Given the description of an element on the screen output the (x, y) to click on. 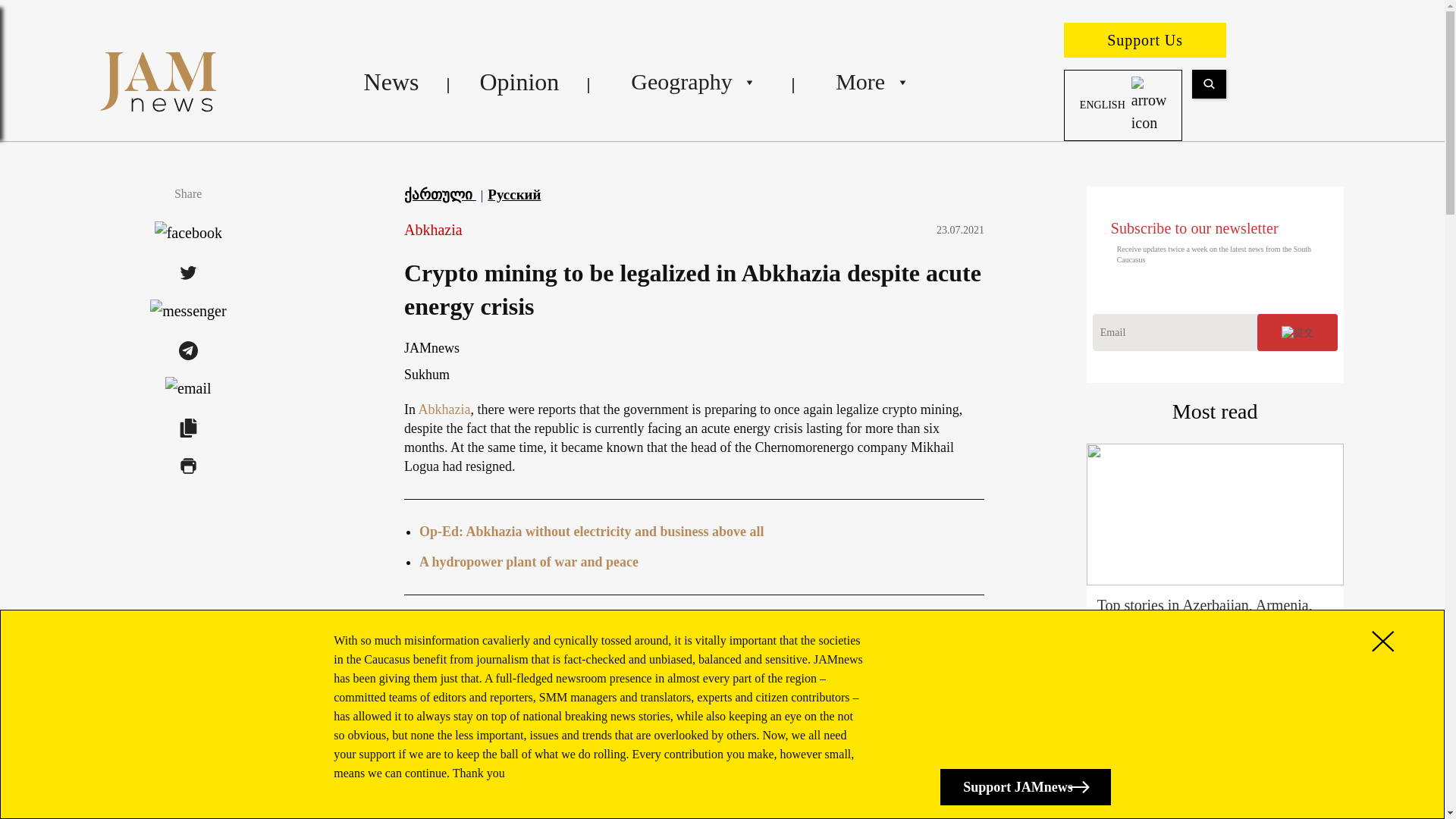
More (869, 81)
Geography (691, 81)
Opinion (518, 81)
News (391, 81)
Support Us (1145, 39)
